Given the description of an element on the screen output the (x, y) to click on. 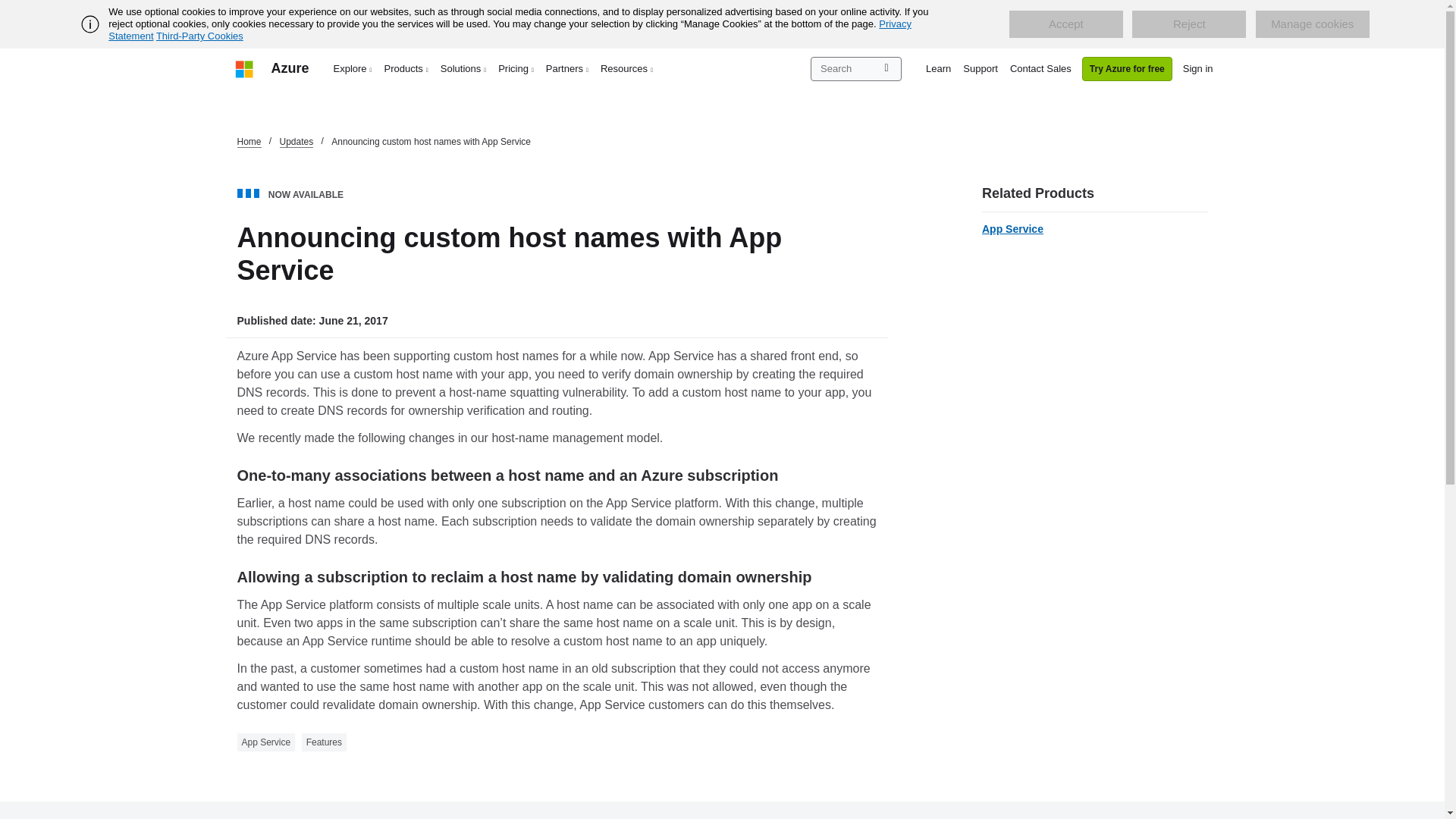
Manage cookies (1312, 23)
Skip to main content (7, 7)
Accept (1065, 23)
Reject (1189, 23)
Explore (352, 68)
Privacy Statement (509, 29)
Products (405, 68)
Azure (289, 68)
Third-Party Cookies (199, 35)
